Given the description of an element on the screen output the (x, y) to click on. 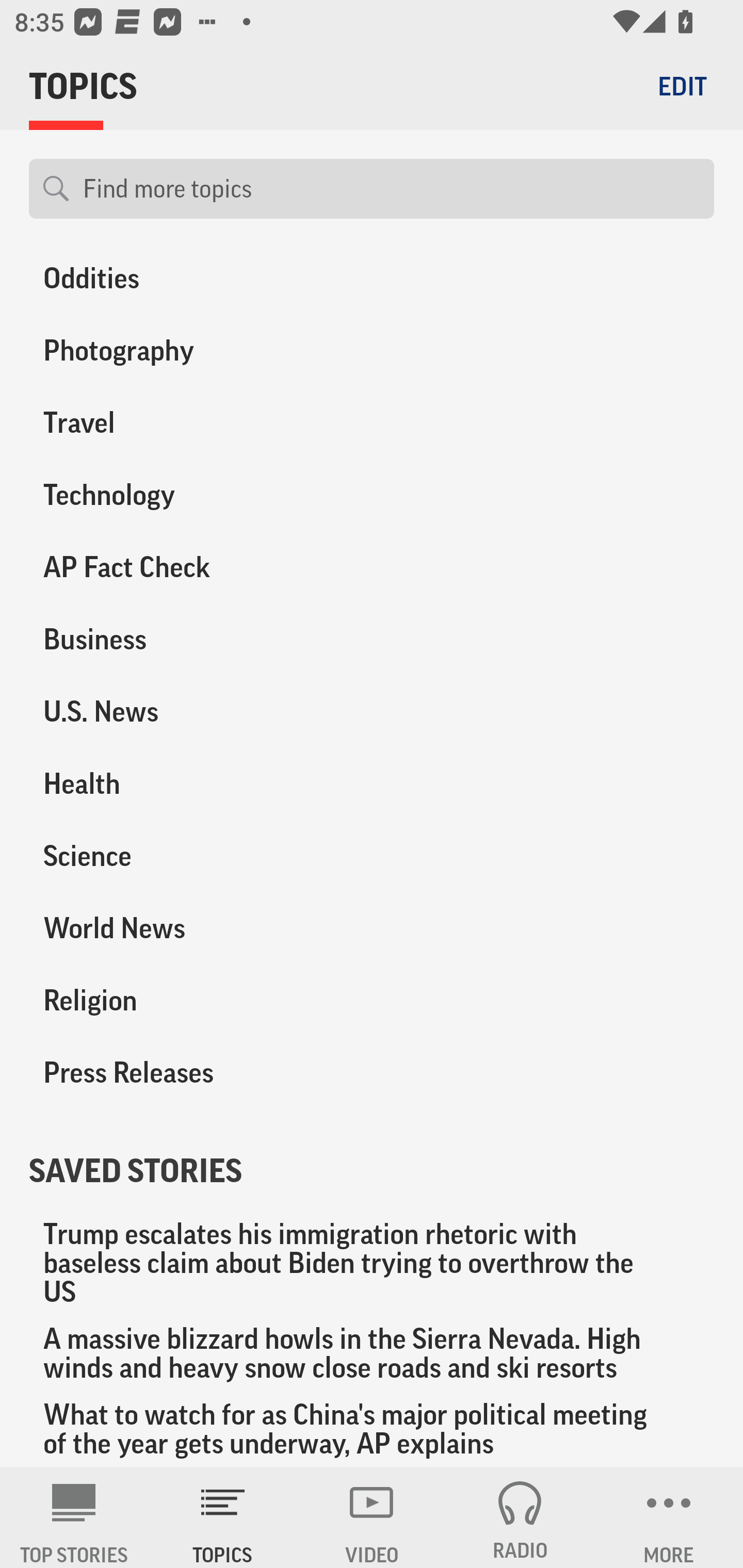
EDIT (682, 86)
Find more topics (391, 188)
Oddities (185, 281)
Photography (185, 351)
Travel (185, 423)
Technology (185, 495)
AP Fact Check (185, 567)
Business (185, 639)
U.S. News (185, 711)
Health (185, 783)
Science (185, 856)
World News (185, 928)
Religion (185, 1000)
Press Releases (185, 1072)
AP News TOP STORIES (74, 1517)
TOPICS (222, 1517)
VIDEO (371, 1517)
RADIO (519, 1517)
MORE (668, 1517)
